Given the description of an element on the screen output the (x, y) to click on. 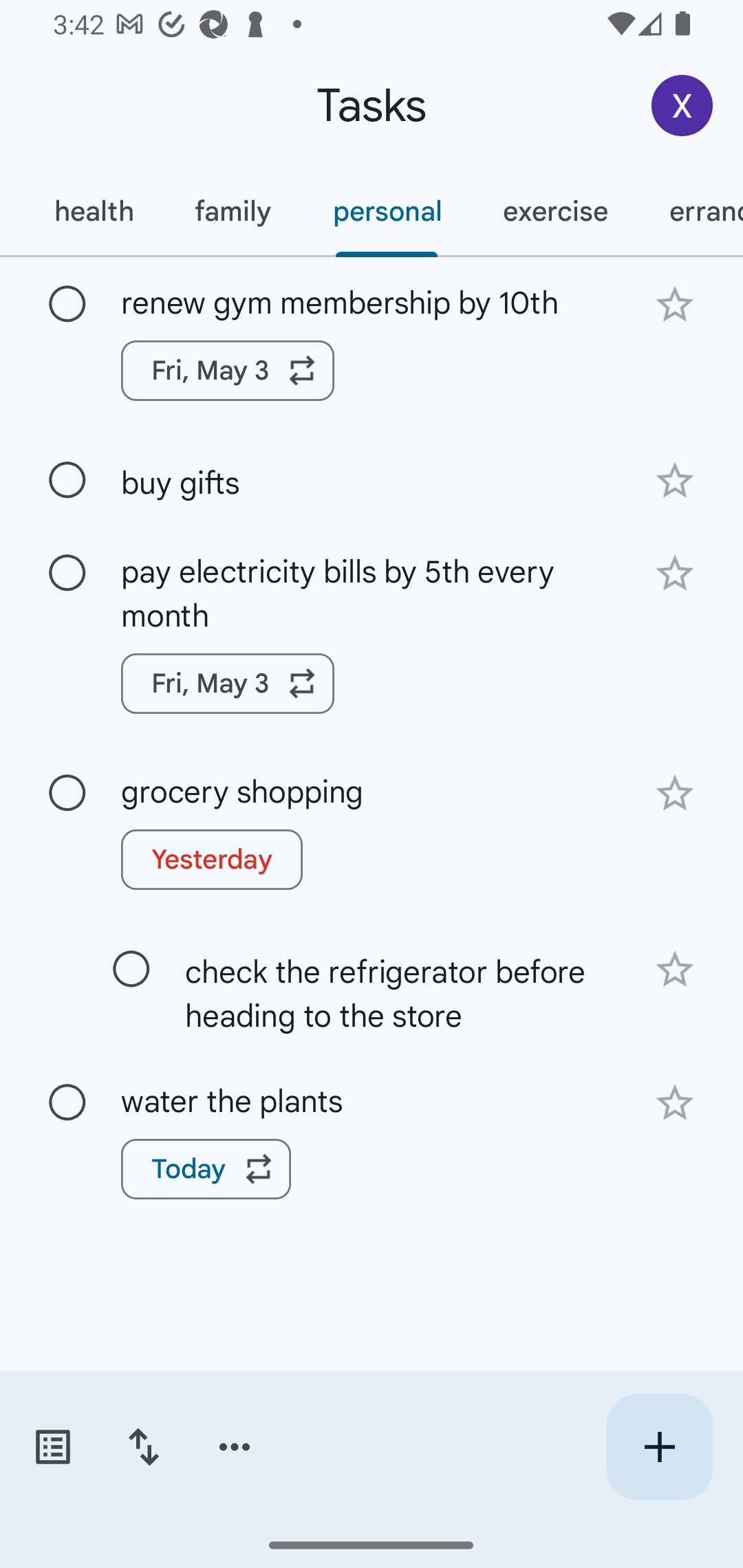
health (93, 211)
family (232, 211)
exercise (554, 211)
errands (690, 211)
Add star (674, 303)
Mark as complete (67, 304)
Fri, May 3 (227, 369)
buy gifts buy gifts Add star Mark as complete (371, 479)
Add star (674, 480)
Mark as complete (67, 480)
Add star (674, 573)
Mark as complete (67, 572)
Fri, May 3 (227, 683)
Add star (674, 792)
Mark as complete (67, 793)
Yesterday (211, 858)
Add star (674, 968)
Mark as complete (131, 969)
Add star (674, 1102)
Mark as complete (67, 1102)
Today (206, 1169)
Switch task lists (52, 1447)
Create new task (659, 1446)
Change sort order (143, 1446)
More options (234, 1446)
